Given the description of an element on the screen output the (x, y) to click on. 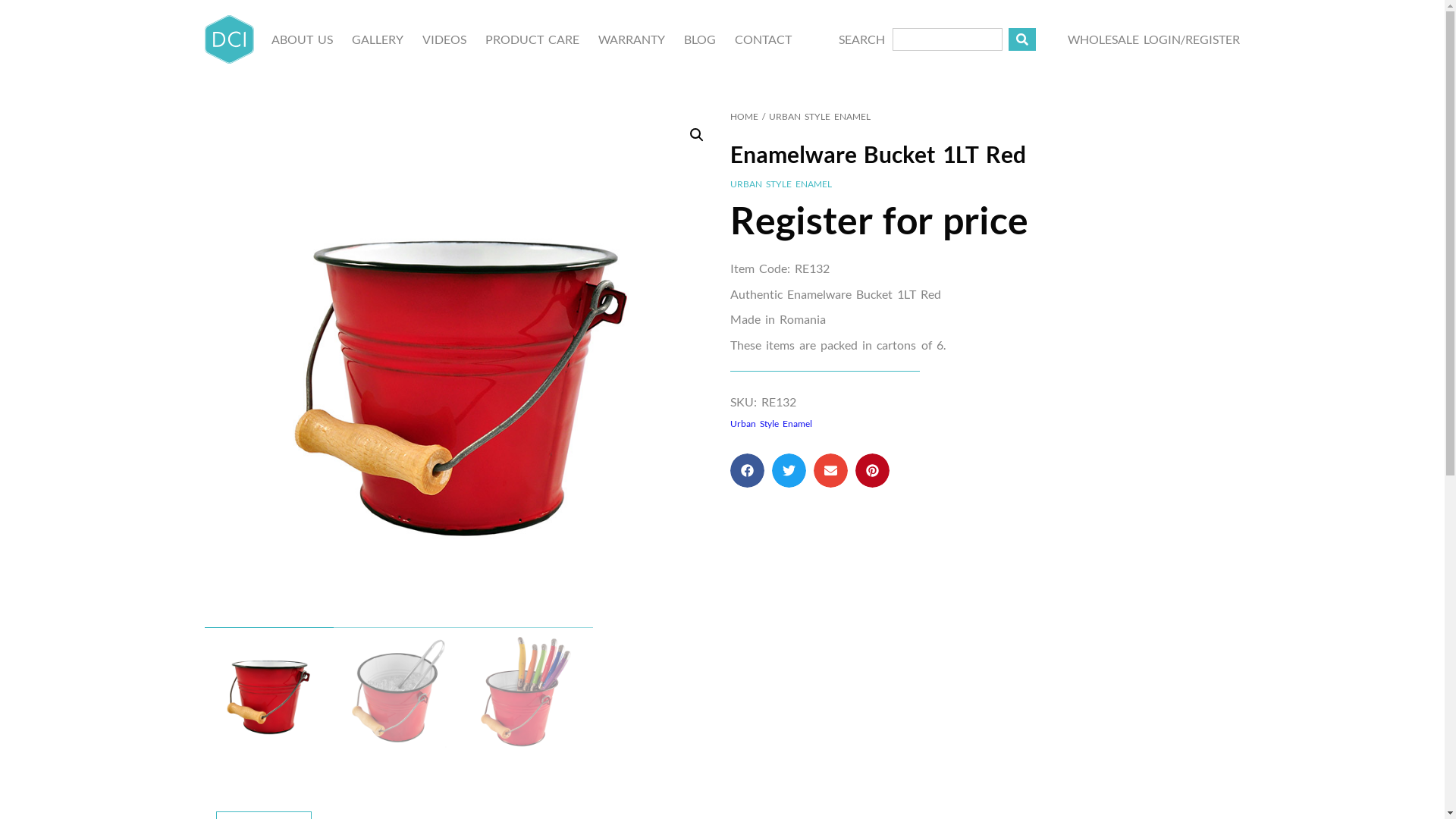
Urban Style Enamel Element type: text (770, 423)
URBAN STYLE ENAMEL Element type: text (780, 183)
BLOG Element type: text (699, 38)
CONTACT Element type: text (762, 38)
ABOUT US Element type: text (301, 38)
GALLERY Element type: text (377, 38)
Bucket 1L Red-RE132 Element type: hover (463, 368)
WHOLESALE LOGIN/REGISTER Element type: text (1153, 38)
PRODUCT CARE Element type: text (532, 38)
VIDEOS Element type: text (444, 38)
WARRANTY Element type: text (631, 38)
HOME Element type: text (743, 116)
